Given the description of an element on the screen output the (x, y) to click on. 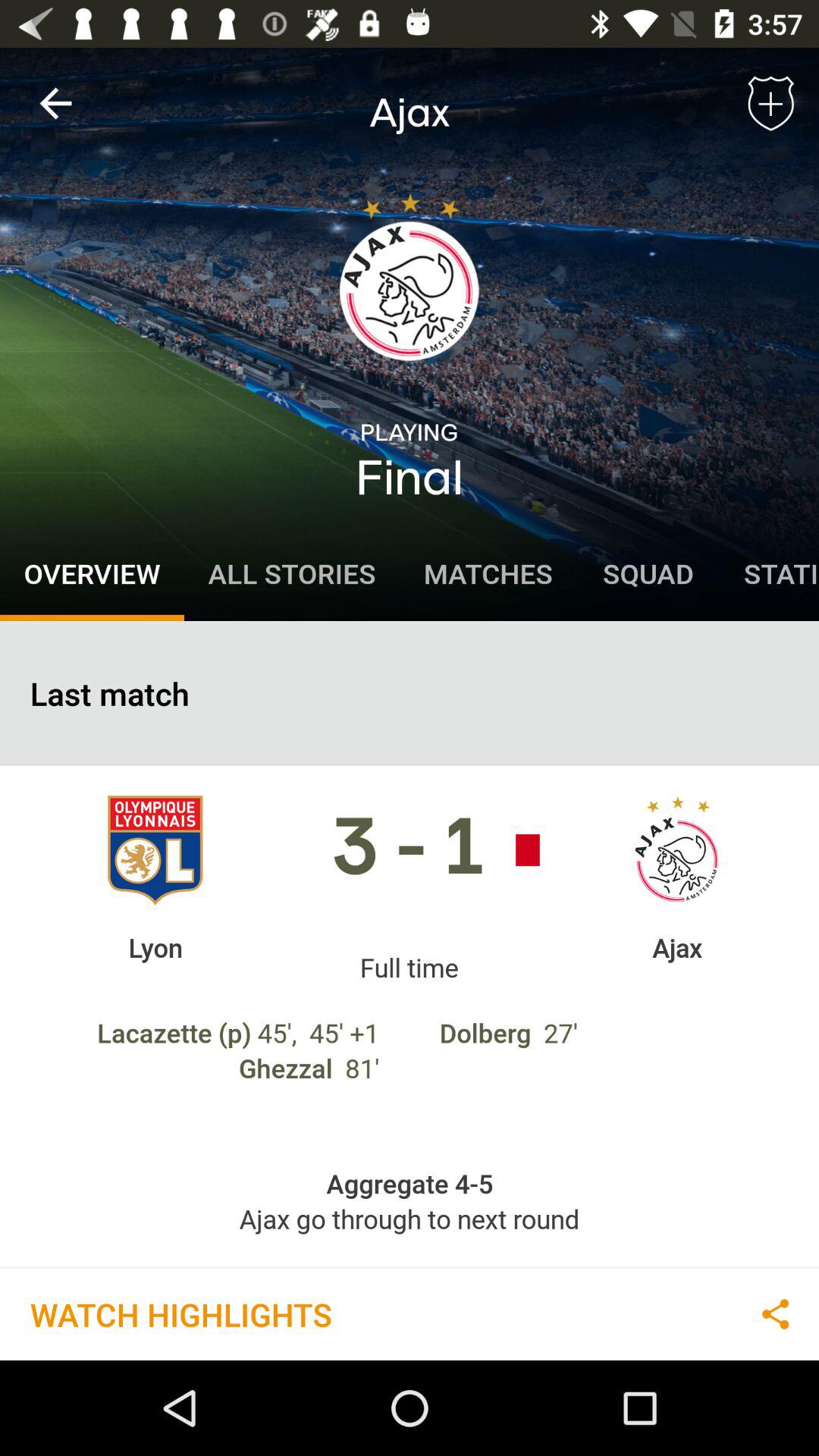
tap the icon next to the watch highlights icon (775, 1313)
